Given the description of an element on the screen output the (x, y) to click on. 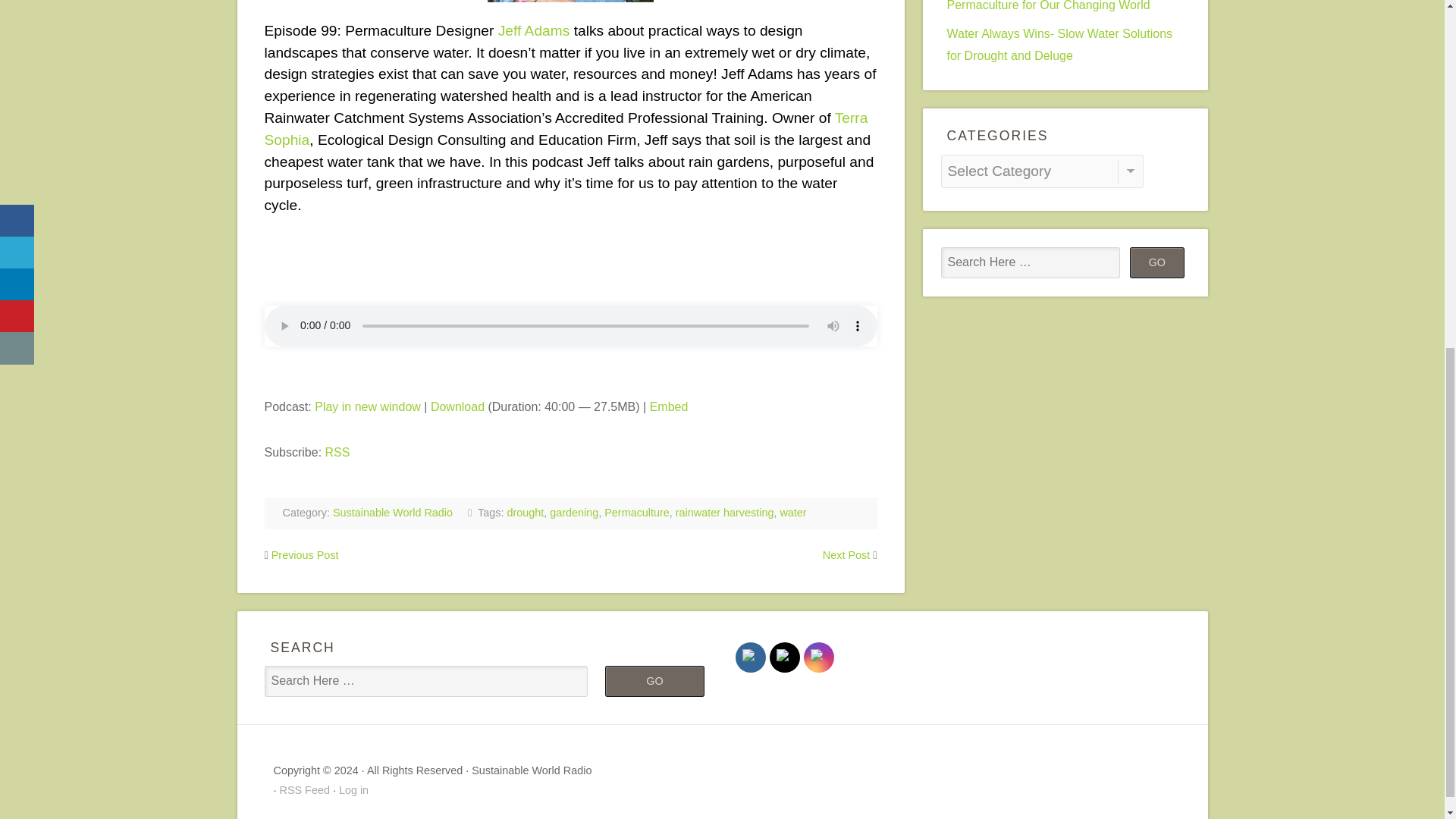
RSS (337, 451)
Embed (668, 406)
Instagram (818, 657)
Previous Post (304, 554)
Embed (668, 406)
Facebook (749, 657)
Subscribe via RSS (337, 451)
Play in new window (367, 406)
Jeff Adams (533, 30)
gardening (574, 512)
